Given the description of an element on the screen output the (x, y) to click on. 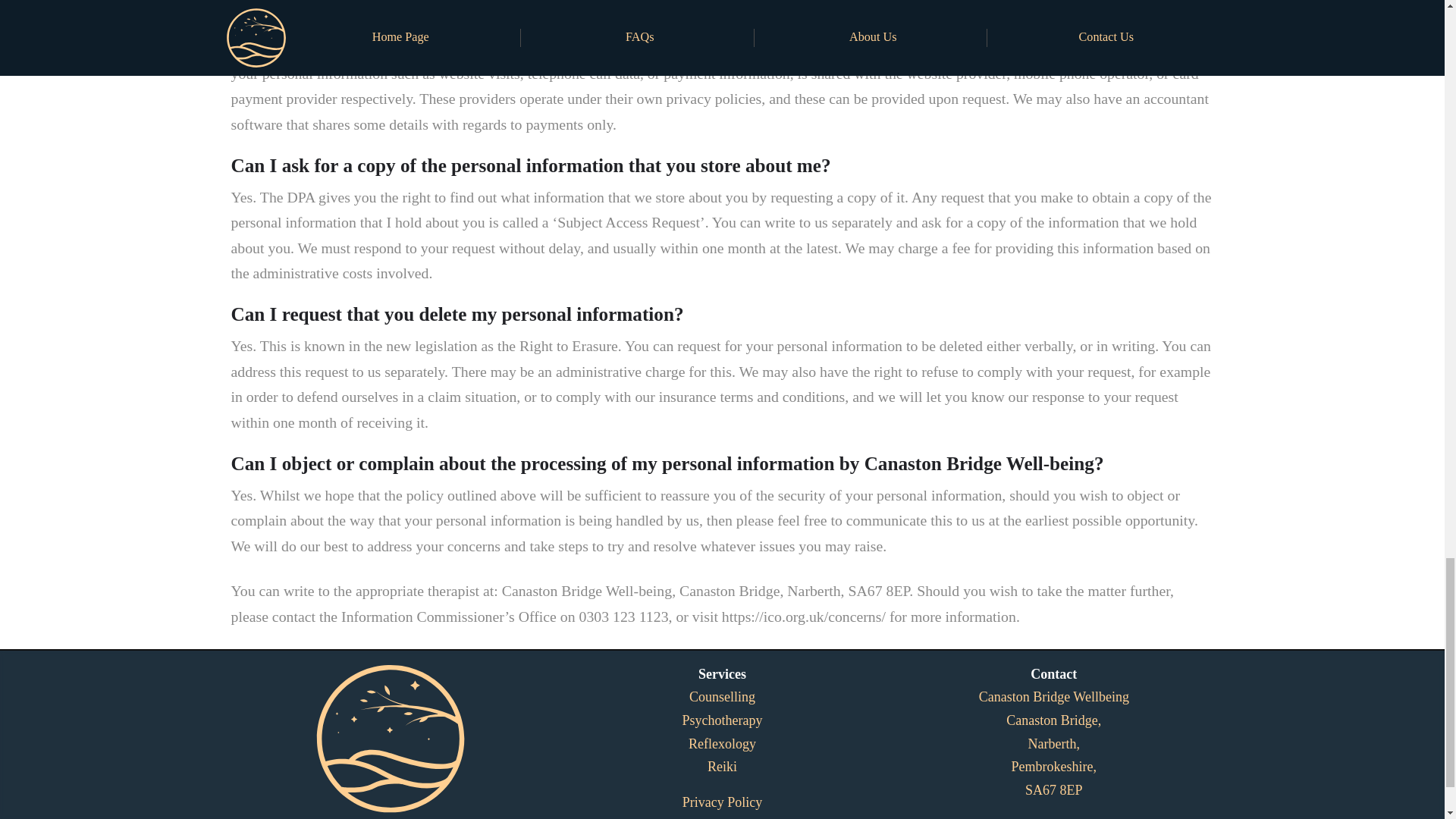
Privacy Policy (722, 801)
